Given the description of an element on the screen output the (x, y) to click on. 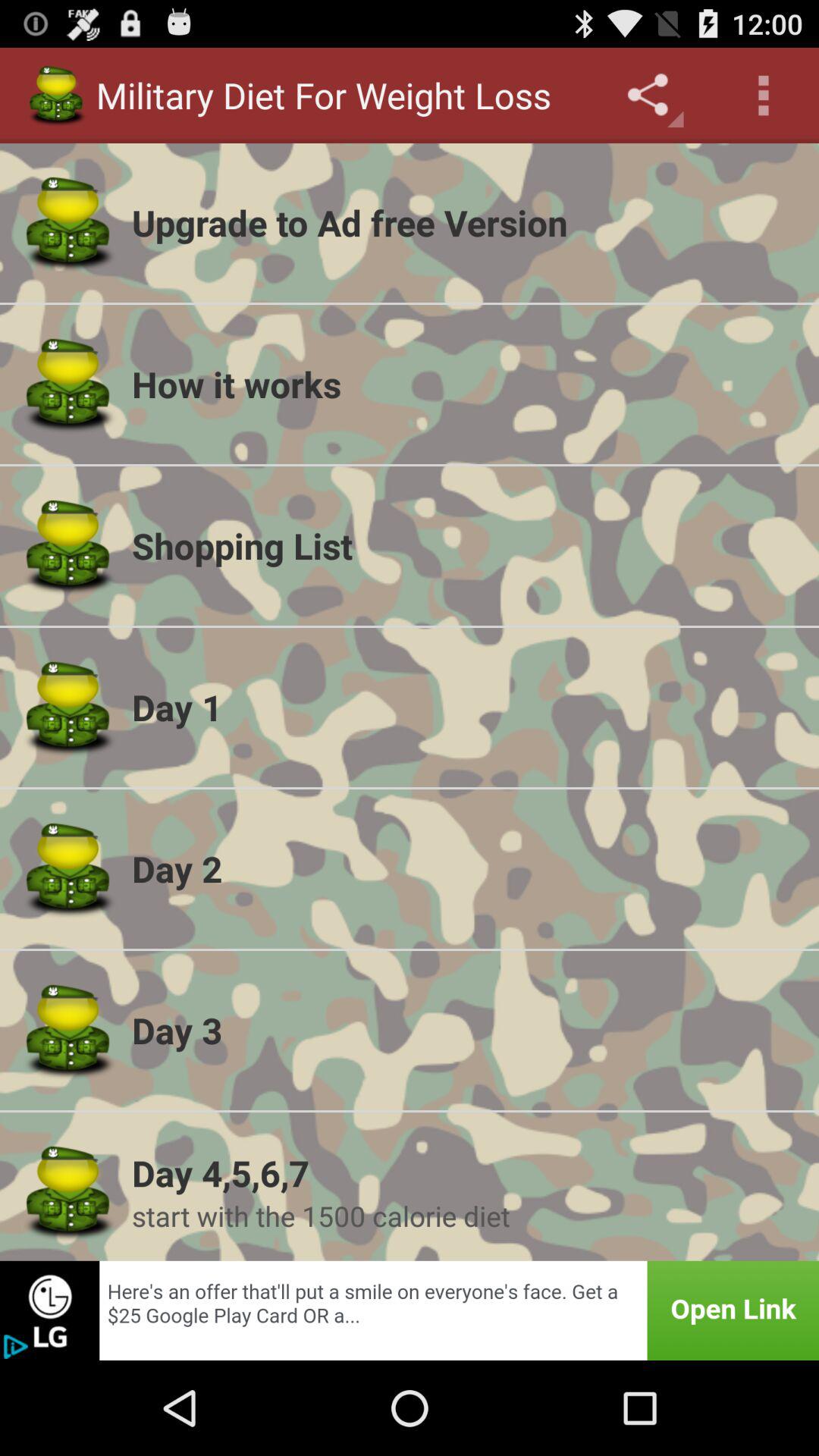
web add (409, 1310)
